Given the description of an element on the screen output the (x, y) to click on. 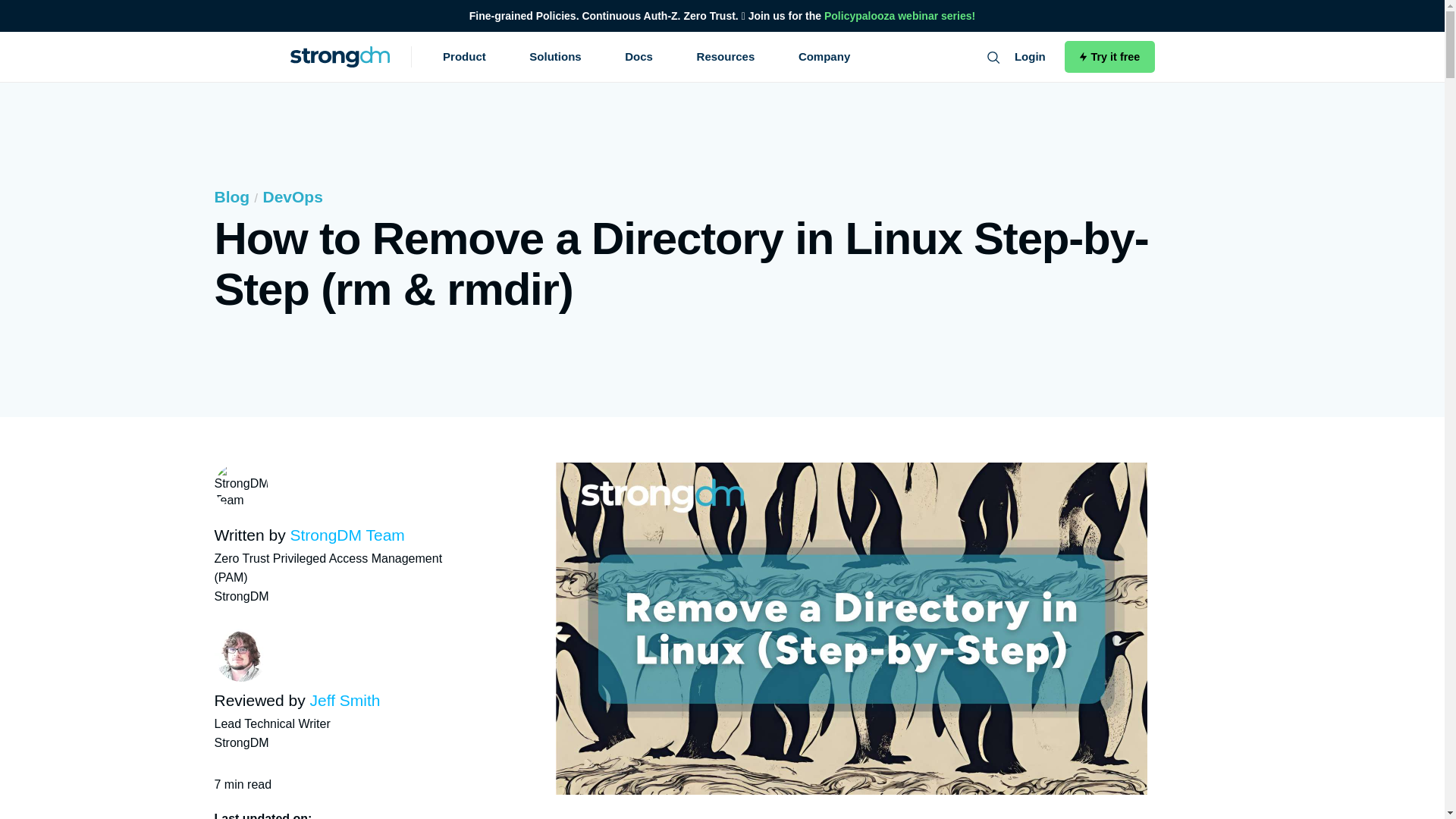
Docs (638, 56)
Solutions (554, 56)
Resources (726, 56)
Product (464, 56)
Policypalooza webinar series! (899, 15)
strongDM logo (339, 56)
